Given the description of an element on the screen output the (x, y) to click on. 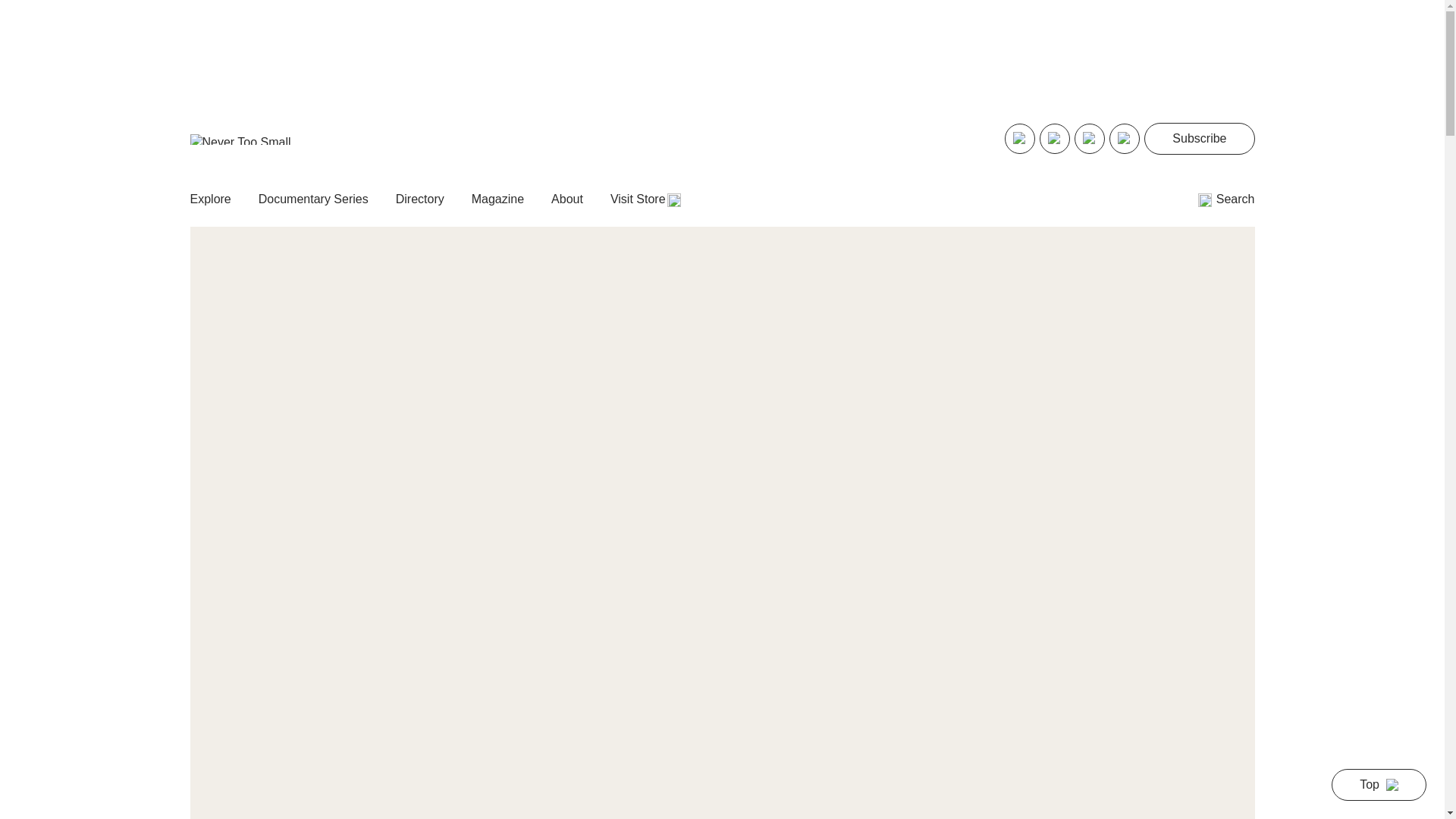
About (567, 199)
Magazine (497, 199)
Visit Store (645, 199)
